Given the description of an element on the screen output the (x, y) to click on. 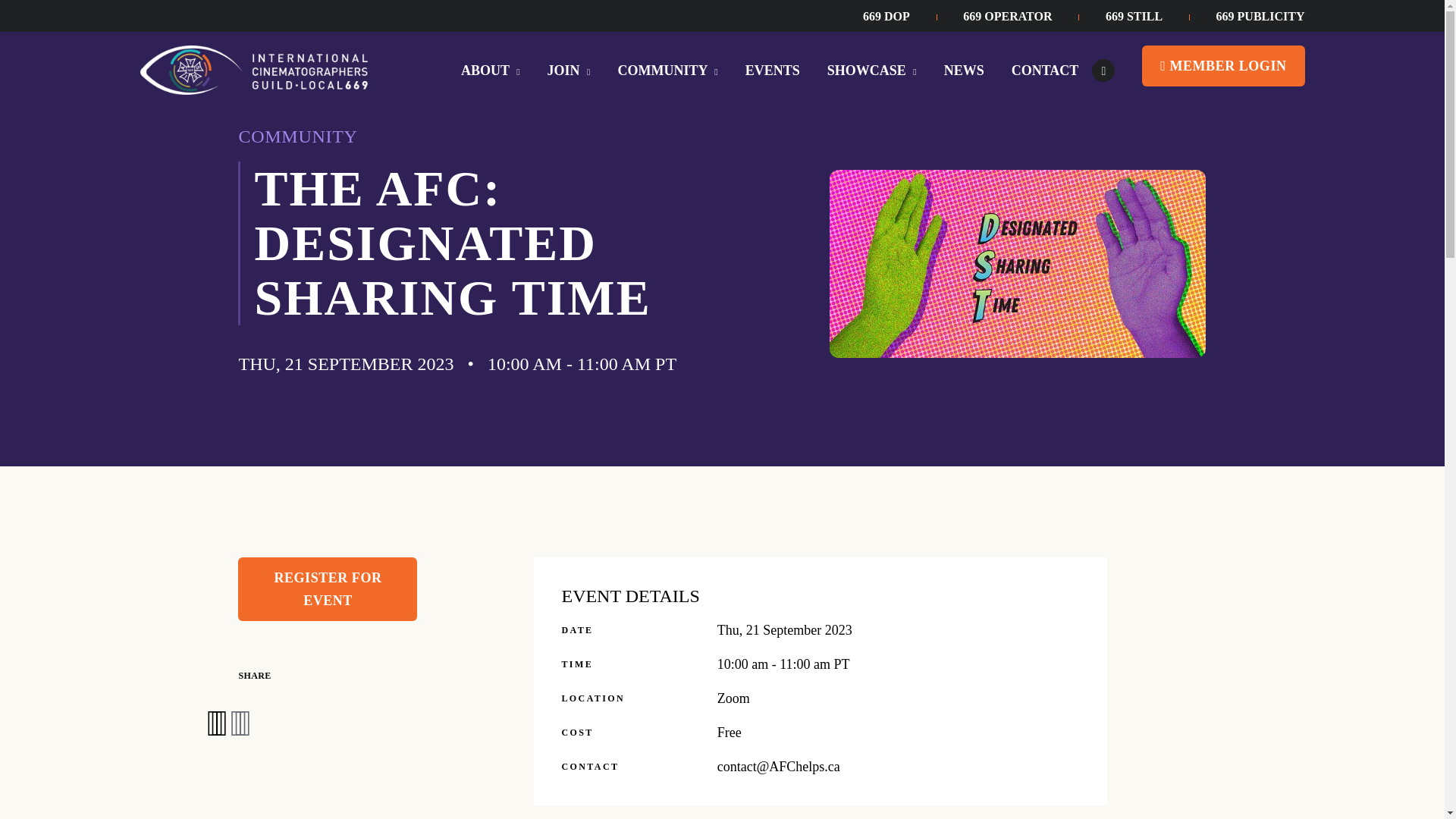
669 OPERATOR (1020, 15)
SHOWCASE (872, 56)
669 PUBLICITY (1259, 15)
EVENTS (772, 56)
MEMBER LOGIN (1222, 65)
COMMUNITY (667, 56)
669 STILL (1147, 15)
ABOUT (490, 56)
CONTACT (1044, 56)
669 DOP (900, 15)
